Given the description of an element on the screen output the (x, y) to click on. 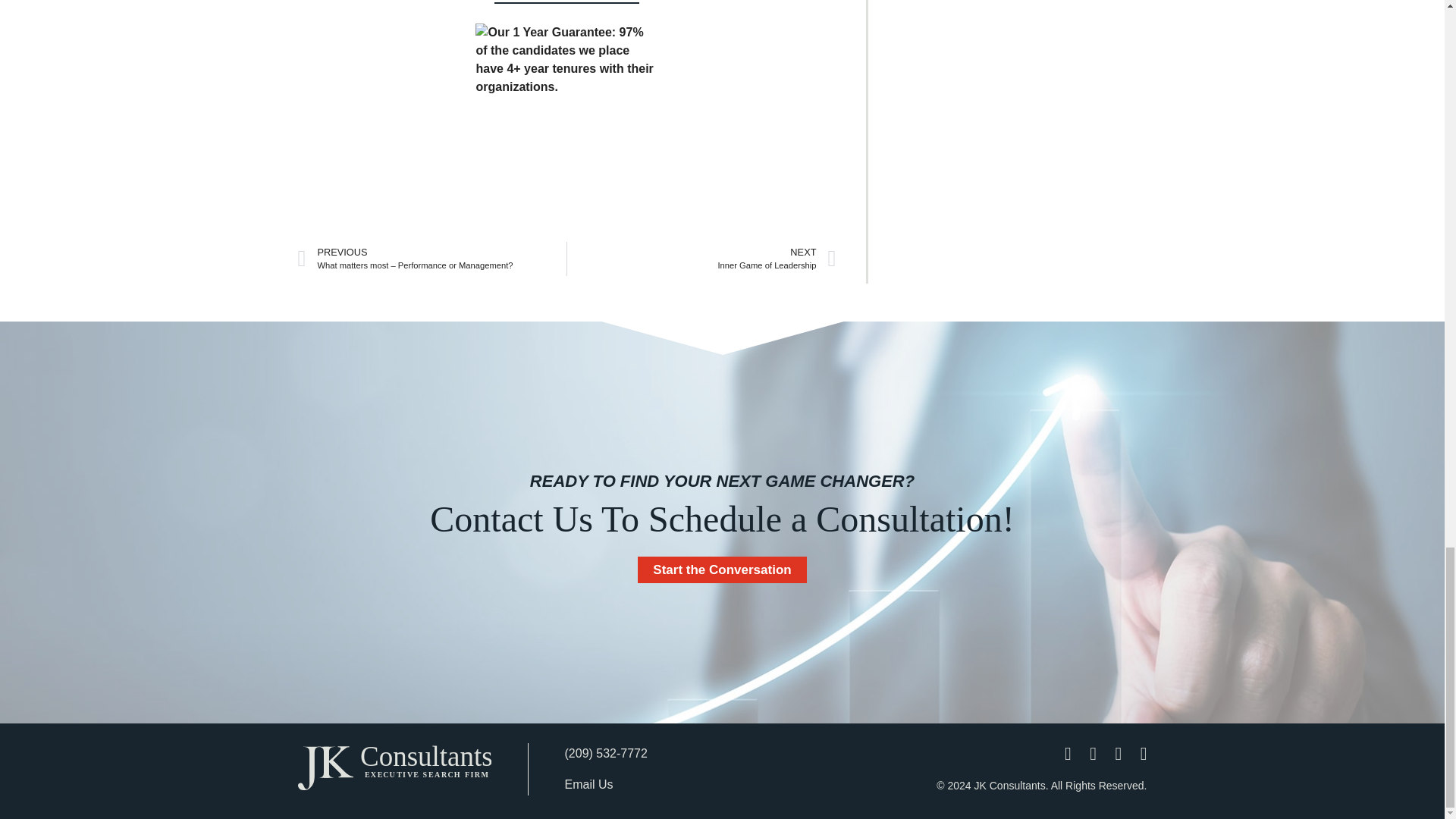
www.JKConsultants.com (567, 1)
